Given the description of an element on the screen output the (x, y) to click on. 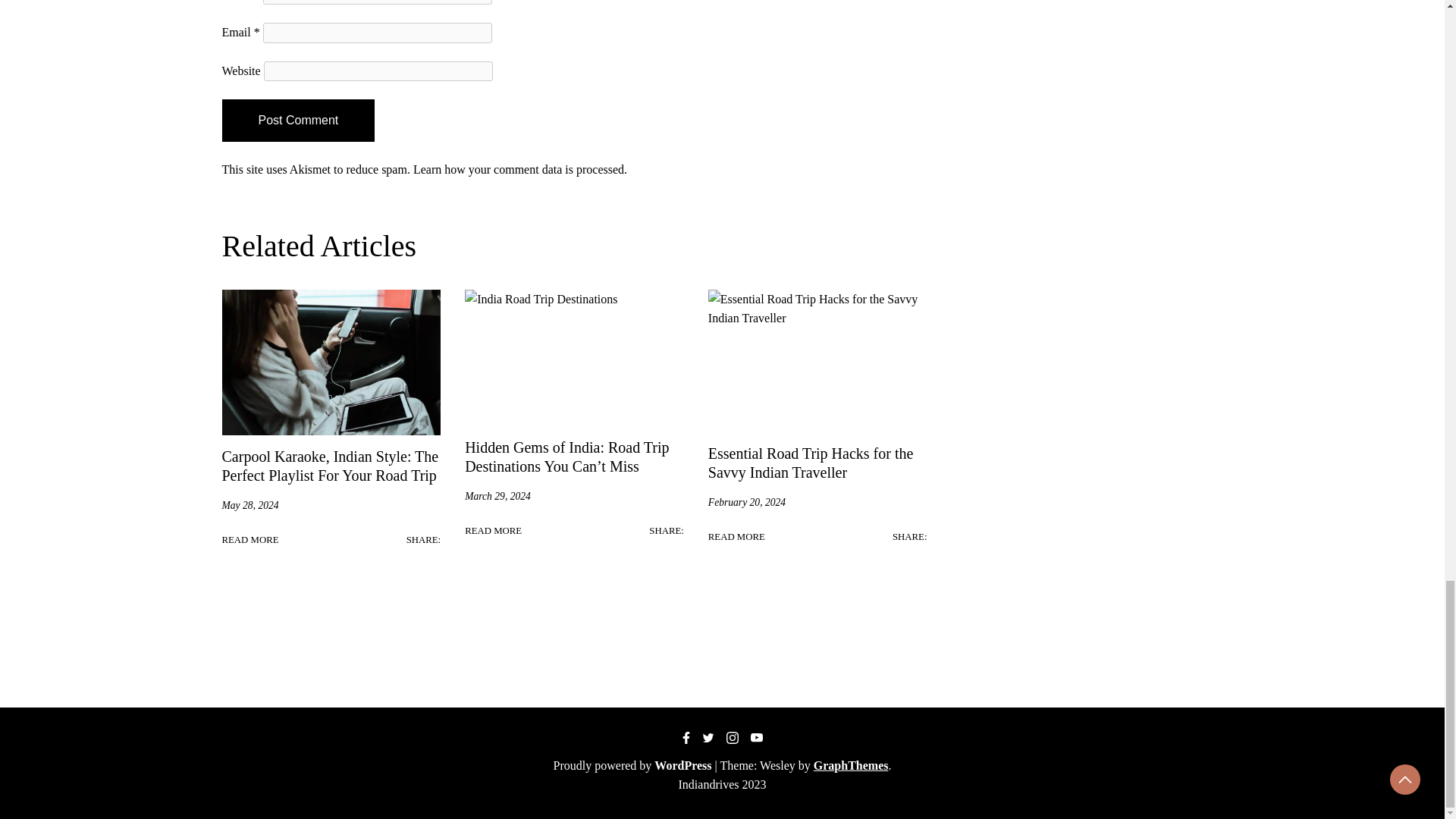
May 28, 2024 (249, 505)
Essential Road Trip Hacks for the Savvy Indian Traveller (810, 462)
March 29, 2024 (497, 496)
READ MORE (249, 539)
READ MORE (492, 530)
February 20, 2024 (746, 502)
READ MORE (736, 536)
Post Comment (297, 120)
Learn how your comment data is processed (518, 169)
